Given the description of an element on the screen output the (x, y) to click on. 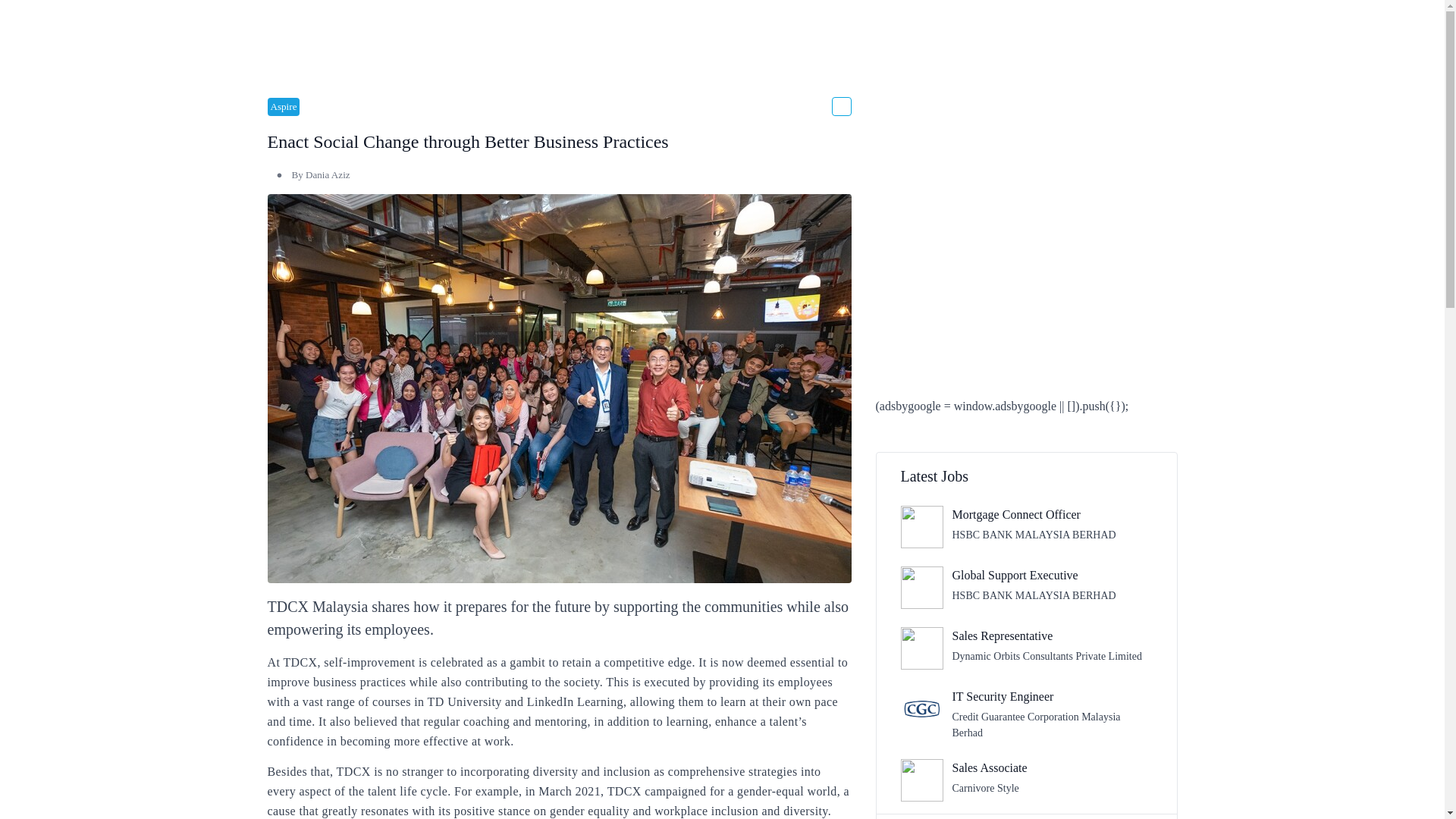
See More Jobs (1027, 526)
Aspire (1026, 816)
Aspire (1027, 780)
